Given the description of an element on the screen output the (x, y) to click on. 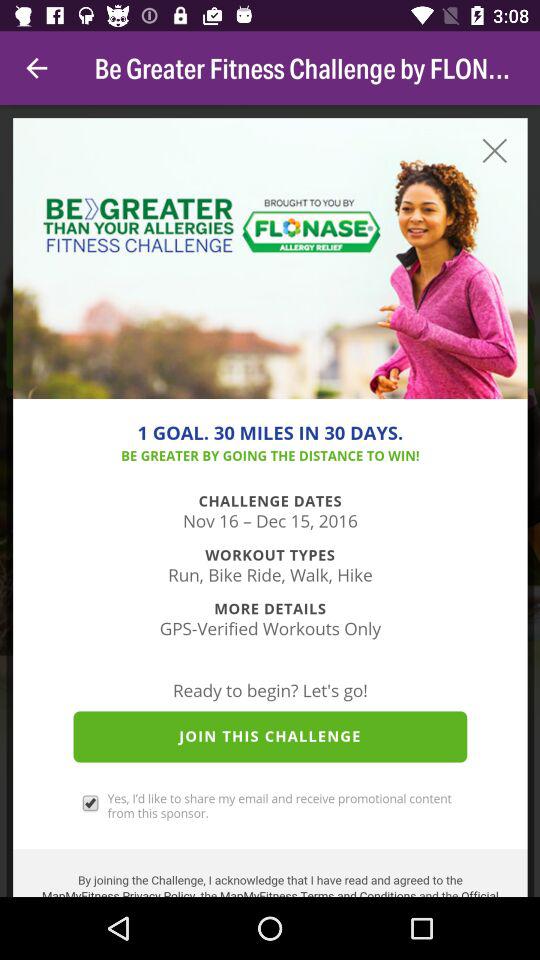
front page (270, 501)
